Given the description of an element on the screen output the (x, y) to click on. 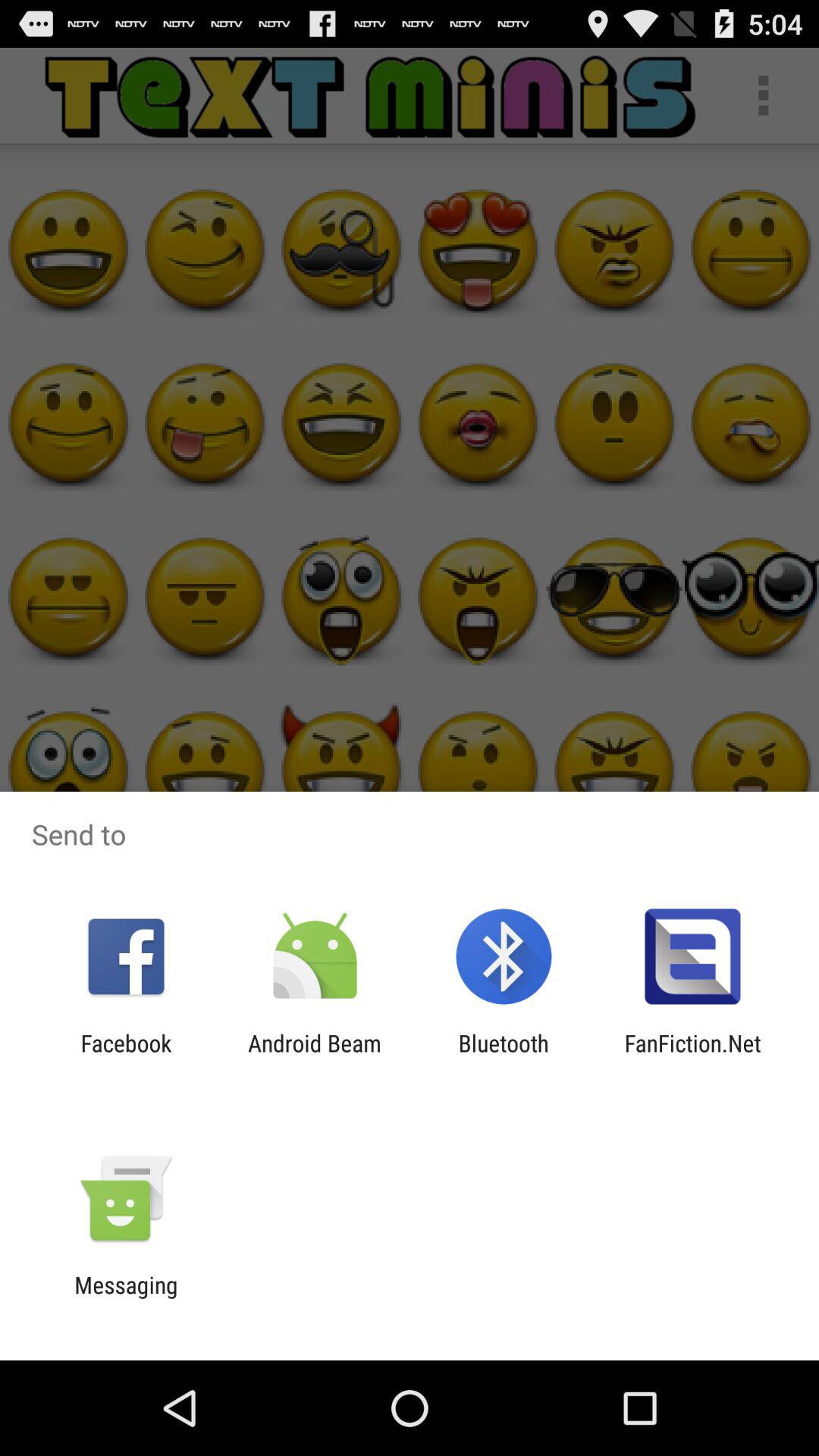
turn off app next to the fanfiction.net (503, 1056)
